Given the description of an element on the screen output the (x, y) to click on. 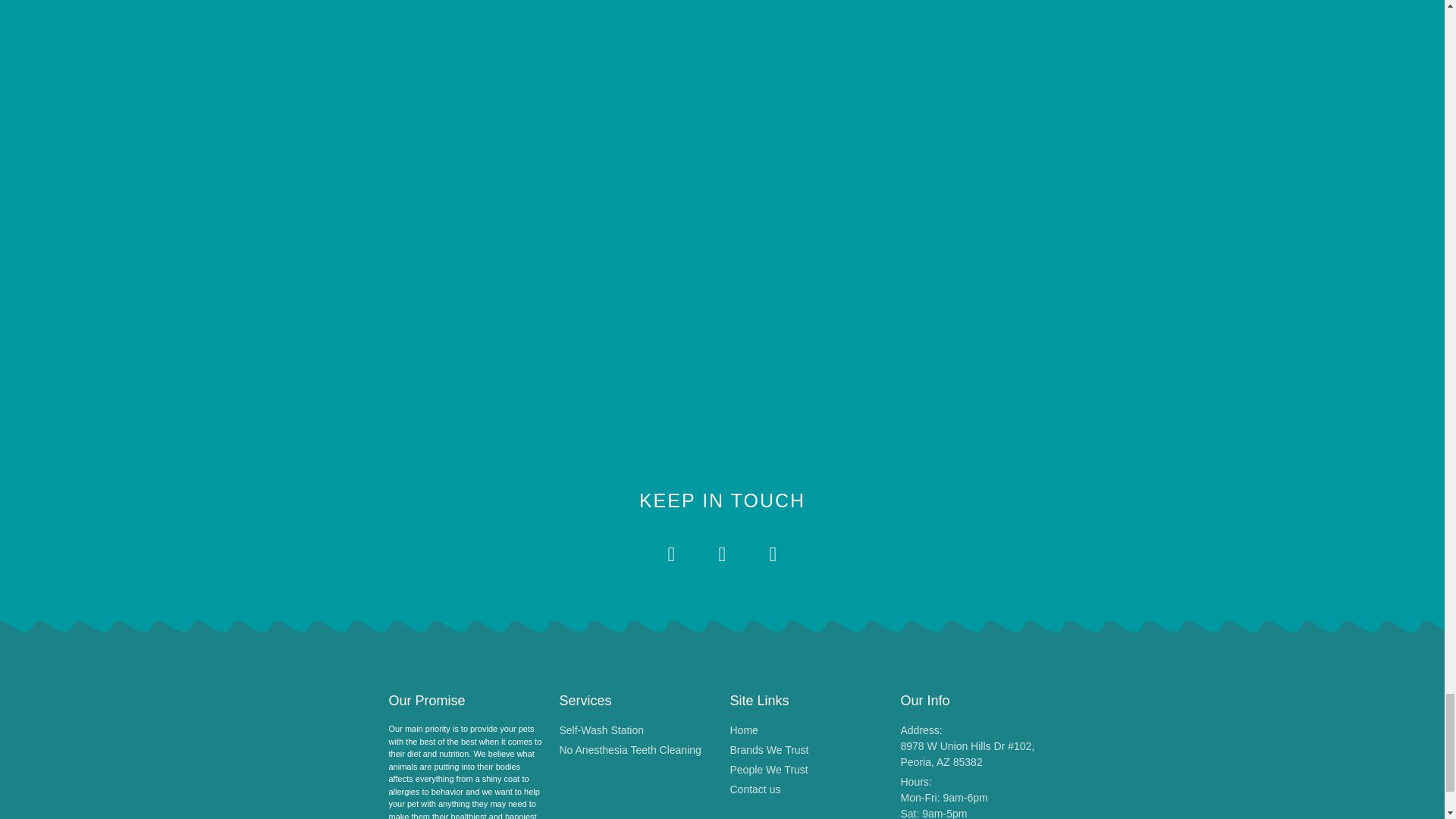
Self-Wash Station (636, 730)
Home (807, 730)
Contact us (807, 789)
People We Trust (979, 796)
Brands We Trust (807, 770)
